Given the description of an element on the screen output the (x, y) to click on. 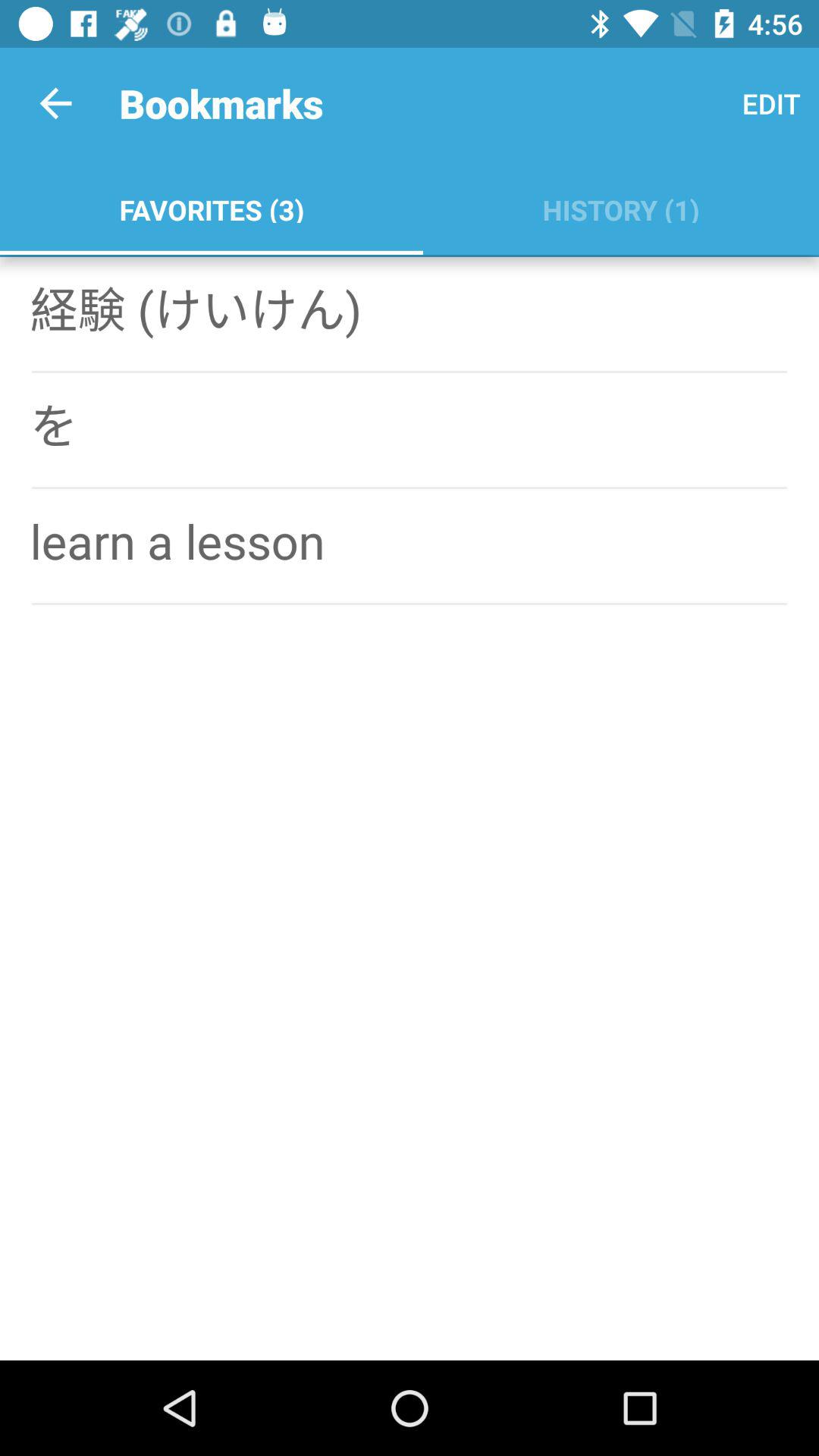
tap favorites (3) icon (211, 206)
